Given the description of an element on the screen output the (x, y) to click on. 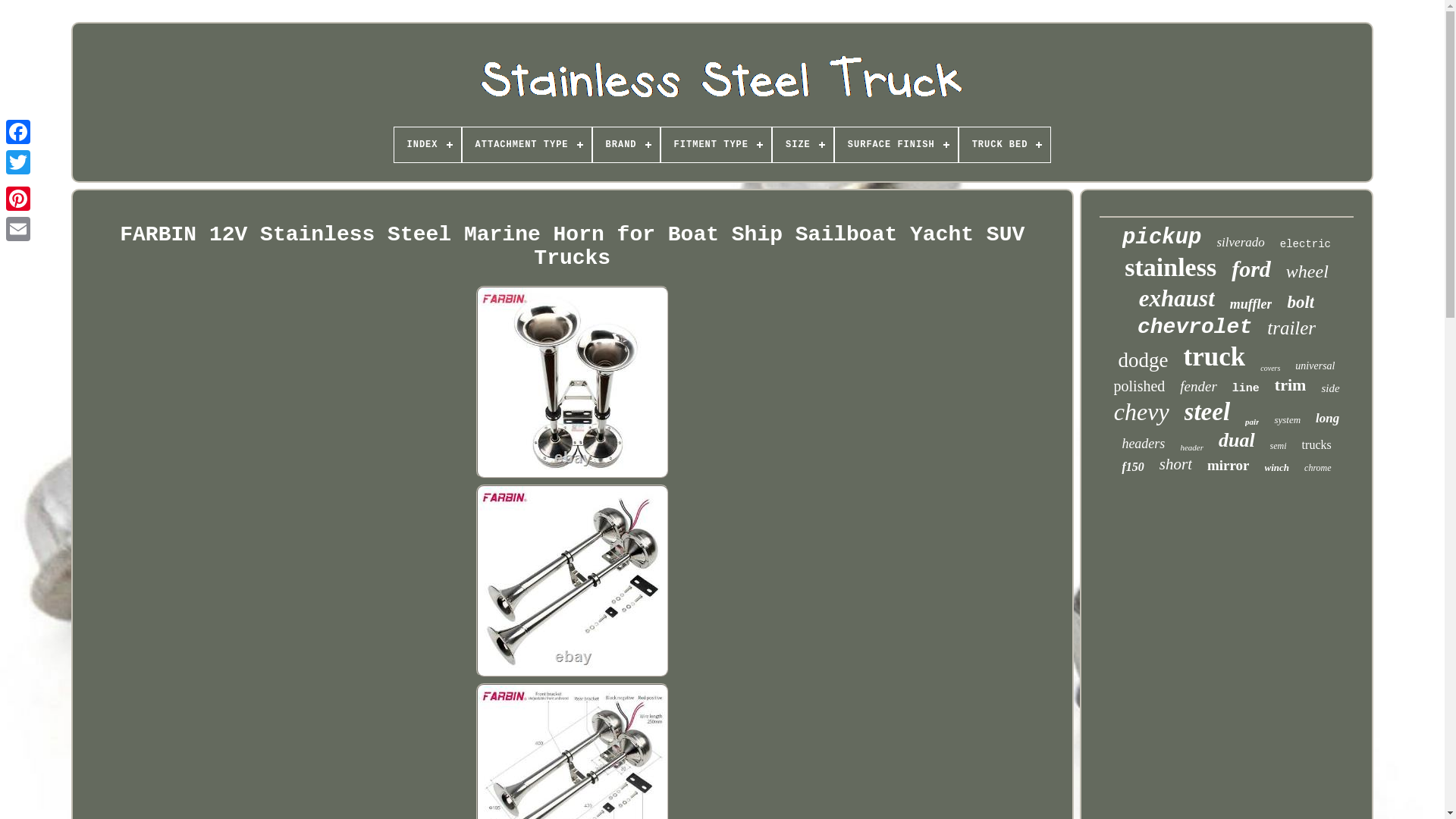
BRAND (625, 144)
Pinterest (17, 198)
INDEX (427, 144)
ATTACHMENT TYPE (527, 144)
